Given the description of an element on the screen output the (x, y) to click on. 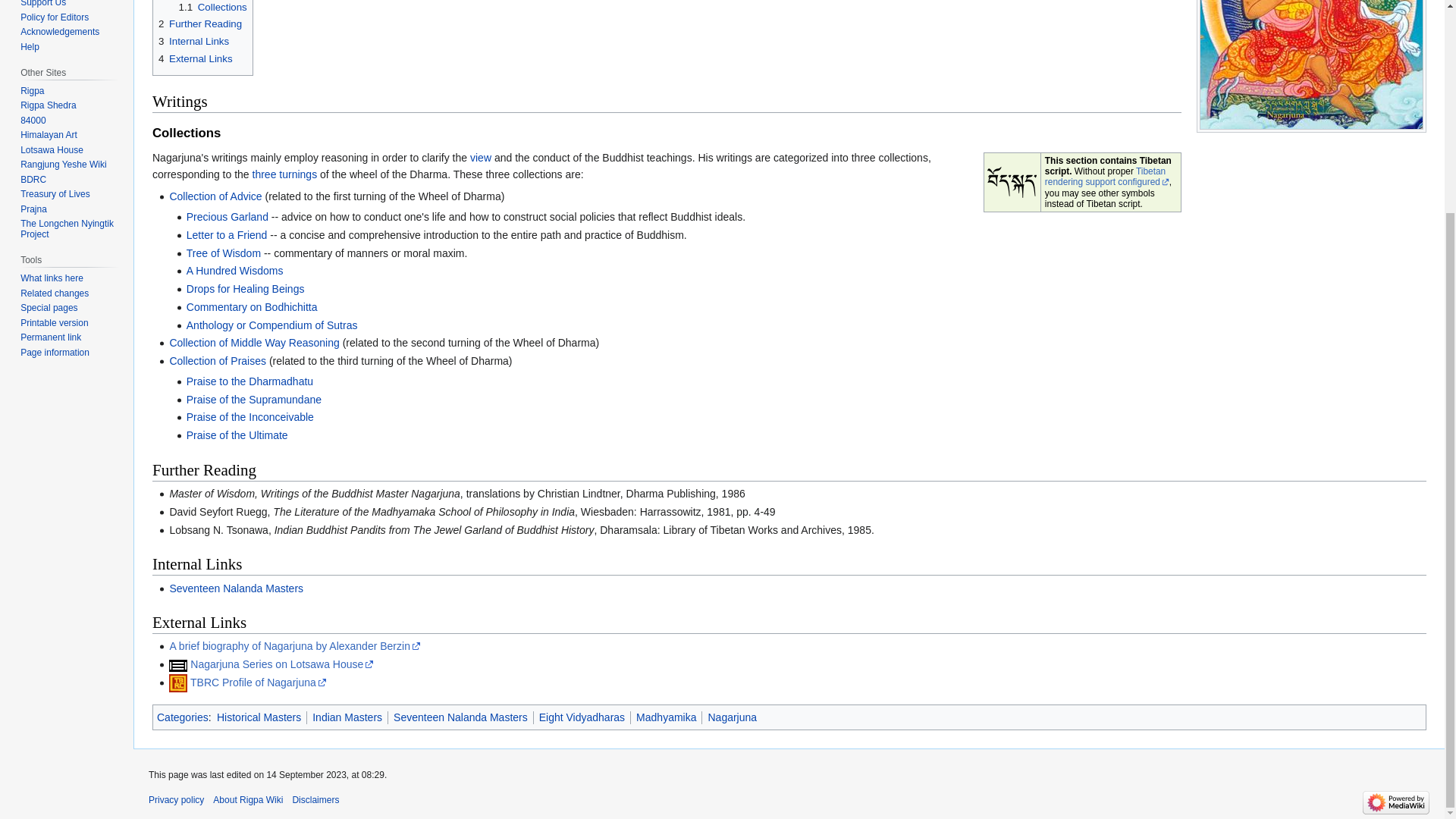
3 Internal Links (193, 41)
Tree of Wisdom (223, 253)
2 Further Reading (199, 23)
Precious Garland (226, 216)
Praise of the Inconceivable (250, 417)
4 External Links (195, 58)
Collection of Advice (215, 196)
three turnings (284, 174)
Drops for Healing Beings (245, 288)
Collection of Praises (217, 360)
